Given the description of an element on the screen output the (x, y) to click on. 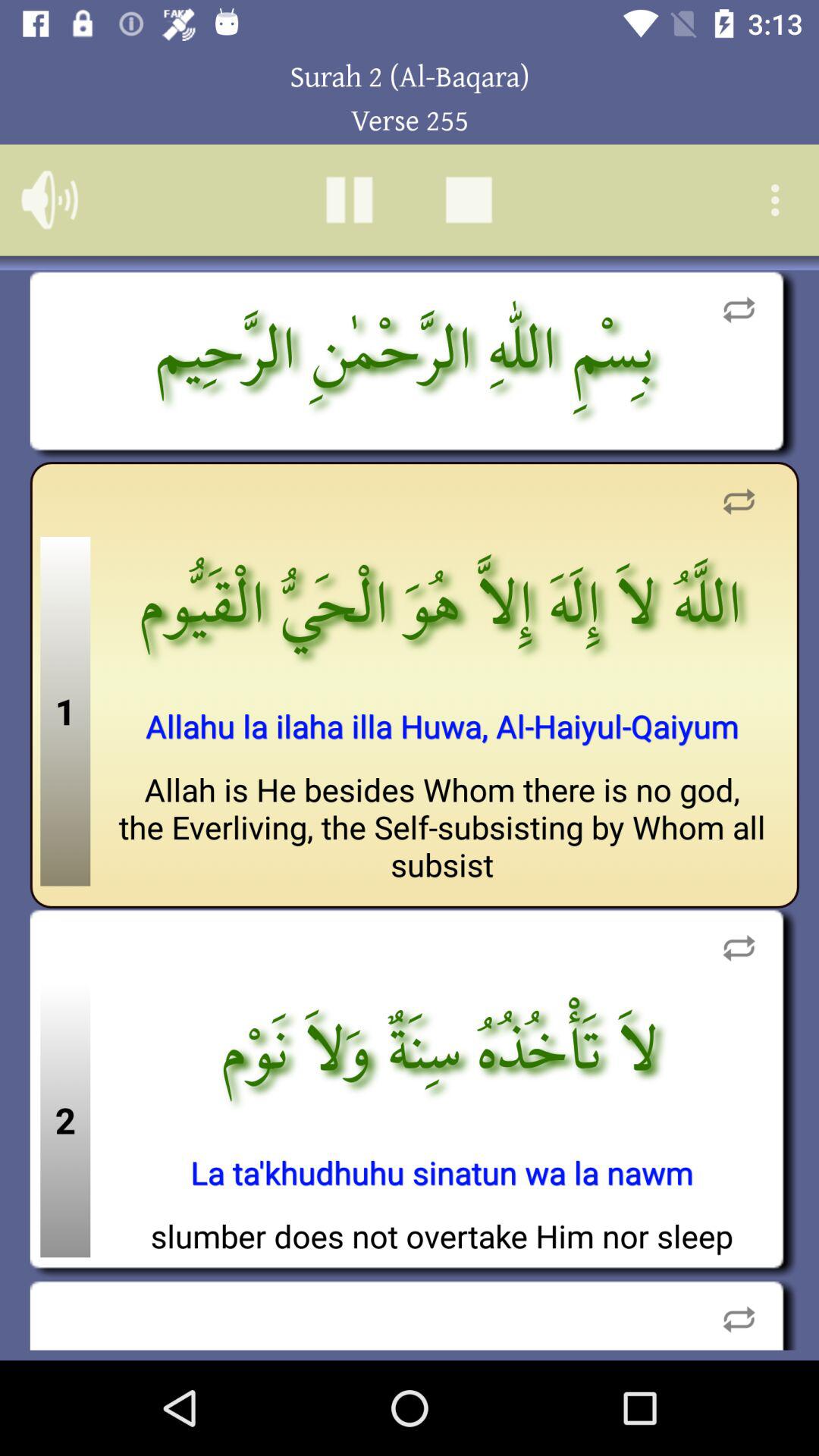
replay button (738, 1314)
